Given the description of an element on the screen output the (x, y) to click on. 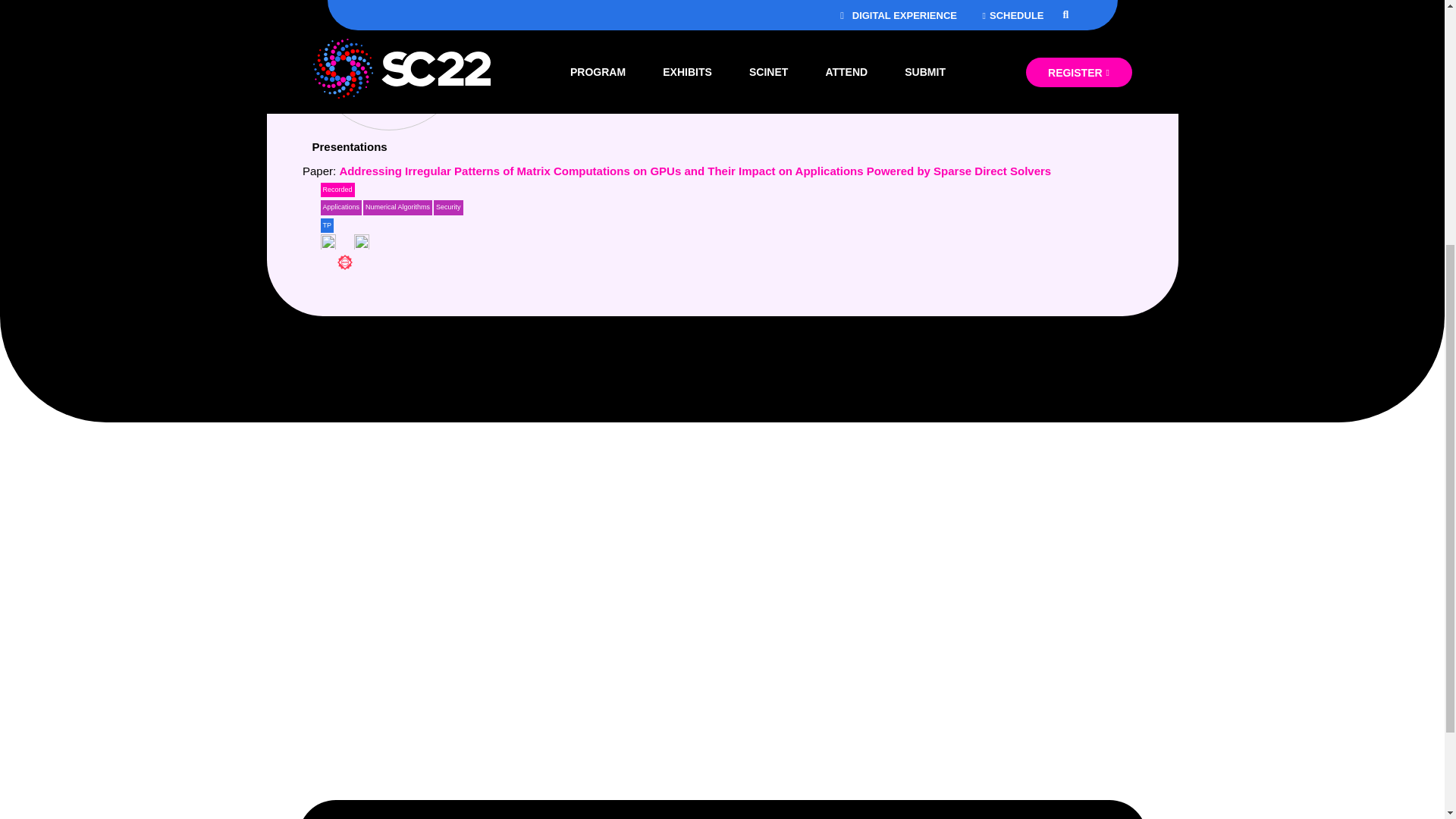
Results Reproduced (360, 241)
Artifact Available (327, 241)
Tech Program Reg Pass (326, 225)
Artifact Functional (344, 262)
